Given the description of an element on the screen output the (x, y) to click on. 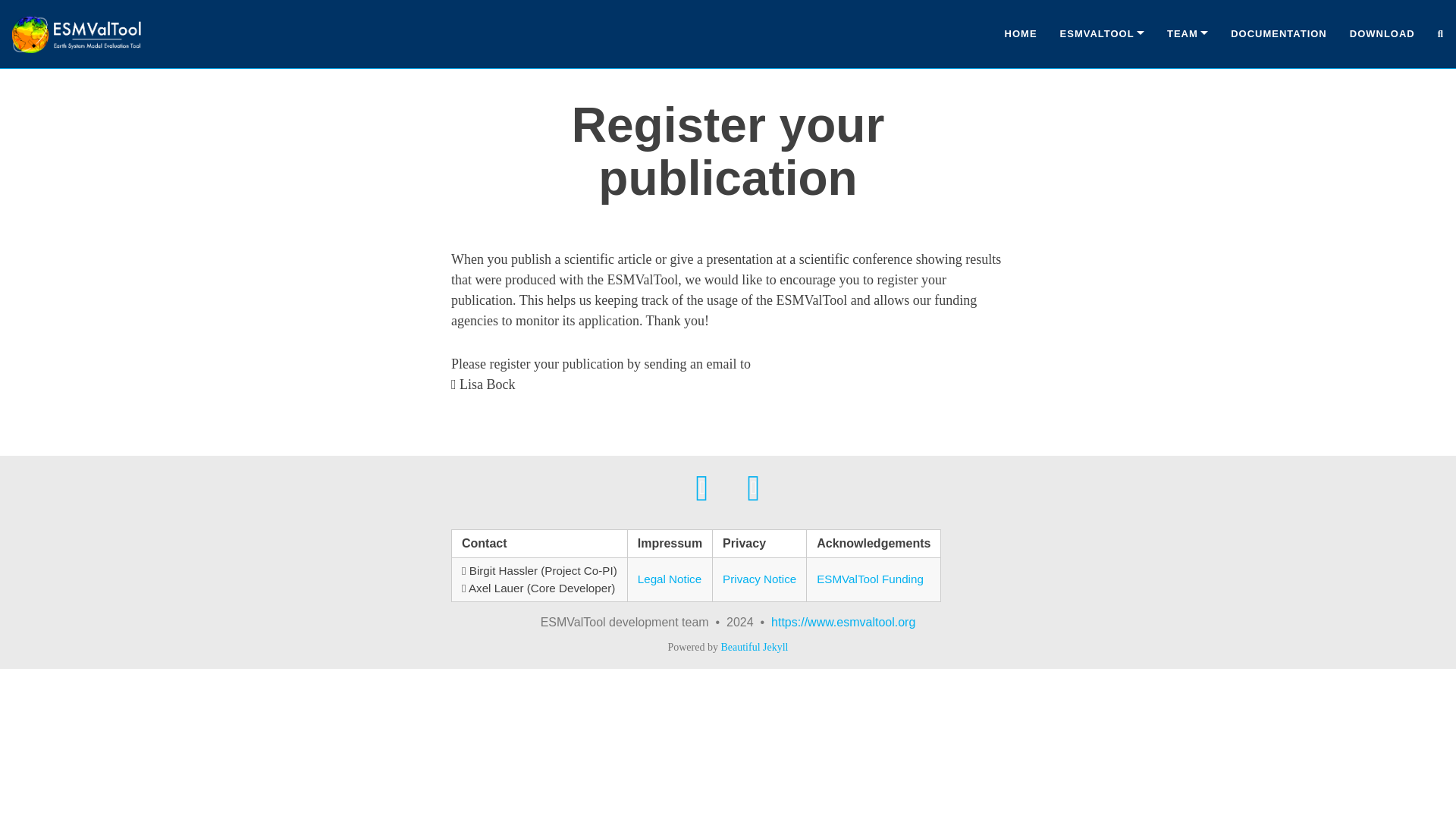
GitHub (702, 486)
TEAM (1188, 34)
DOWNLOAD (1382, 34)
HOME (1020, 34)
GitHub (702, 486)
DOCUMENTATION (1279, 34)
Lisa Bock (487, 384)
ESMVALTOOL (1102, 34)
